Given the description of an element on the screen output the (x, y) to click on. 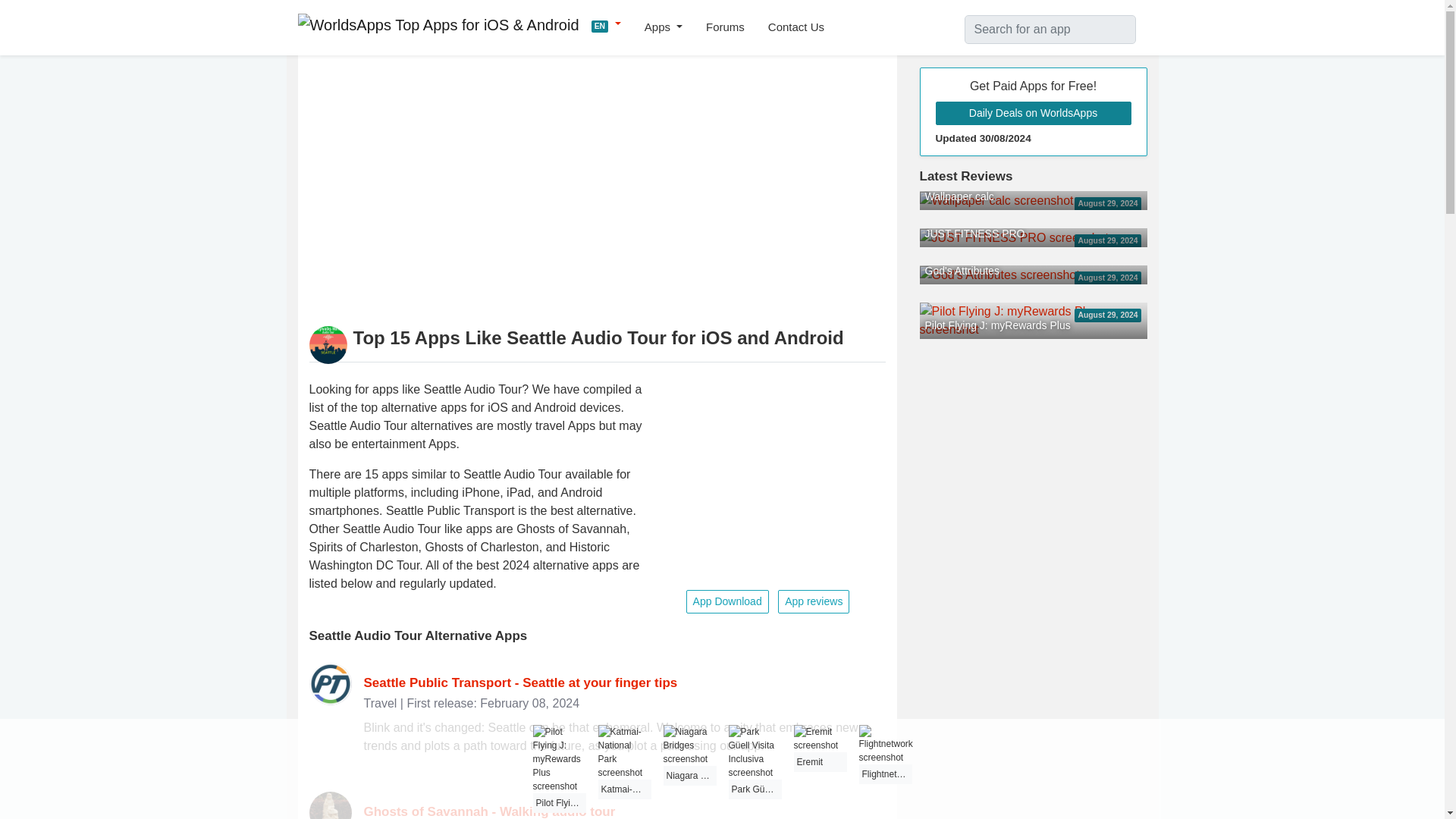
Daily Deals on WorldsApps (1033, 113)
App reviews (812, 601)
App Download (726, 601)
Ghosts of Savannah - Walking audio tour (489, 811)
Pilot Flying J: myRewards Plus (1032, 318)
Wallpaper calc (995, 199)
Seattle Public Transport - Seattle at your finger tips (521, 682)
Contact Us (796, 27)
Download God's Attributes App (998, 273)
Download Pilot Flying J: myRewards Plus App (1032, 318)
